Given the description of an element on the screen output the (x, y) to click on. 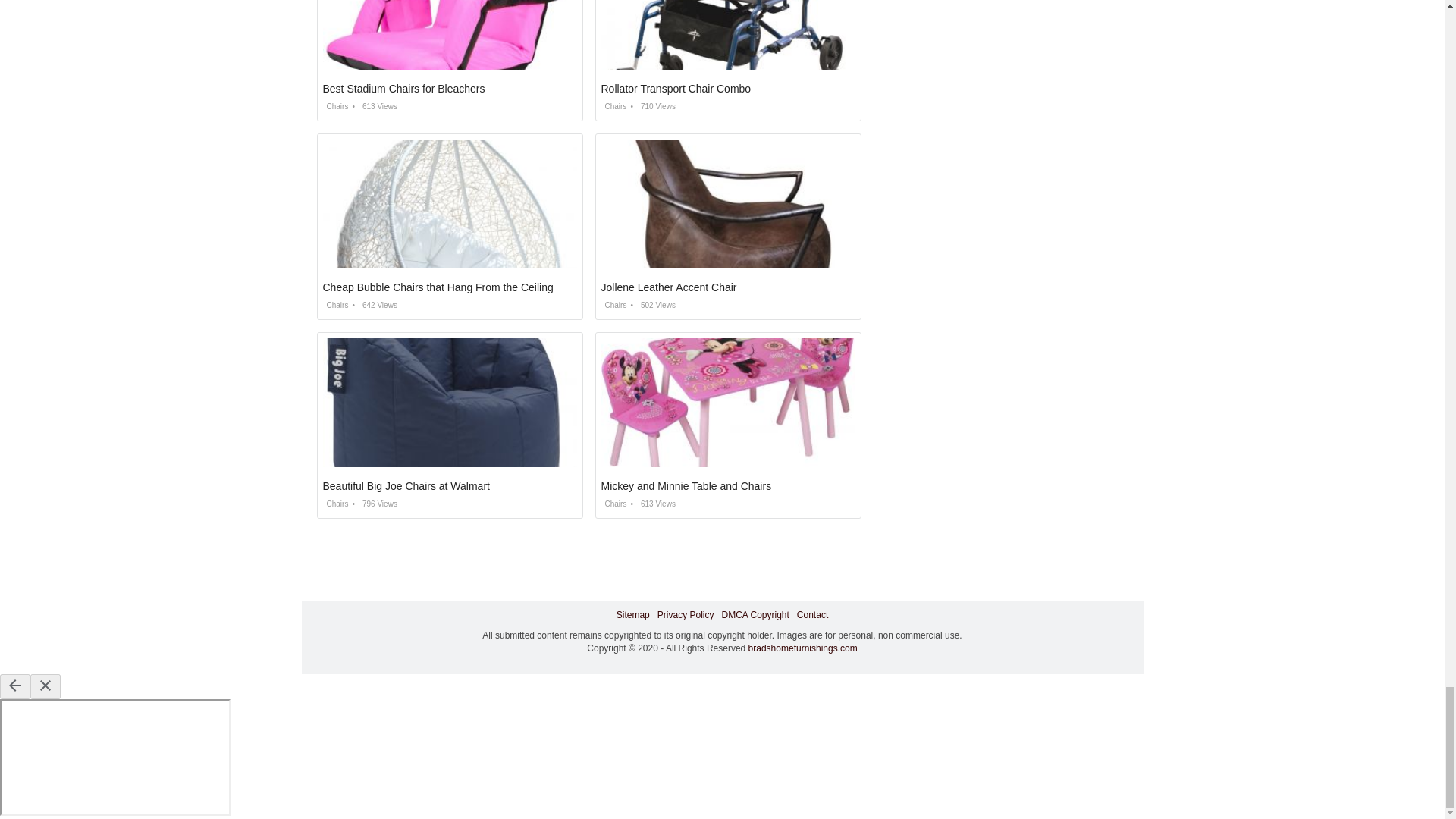
Rollator Transport Chair Combo (675, 88)
Cheap Bubble Chairs that Hang From the Ceiling (438, 287)
Chairs (336, 305)
Best Stadium Chairs for Bleachers (403, 88)
Chairs (336, 106)
Beautiful Big Joe Chairs at Walmart (406, 485)
Jollene Leather Accent Chair (667, 287)
Chairs (612, 106)
Chairs (336, 503)
Chairs (612, 305)
